Given the description of an element on the screen output the (x, y) to click on. 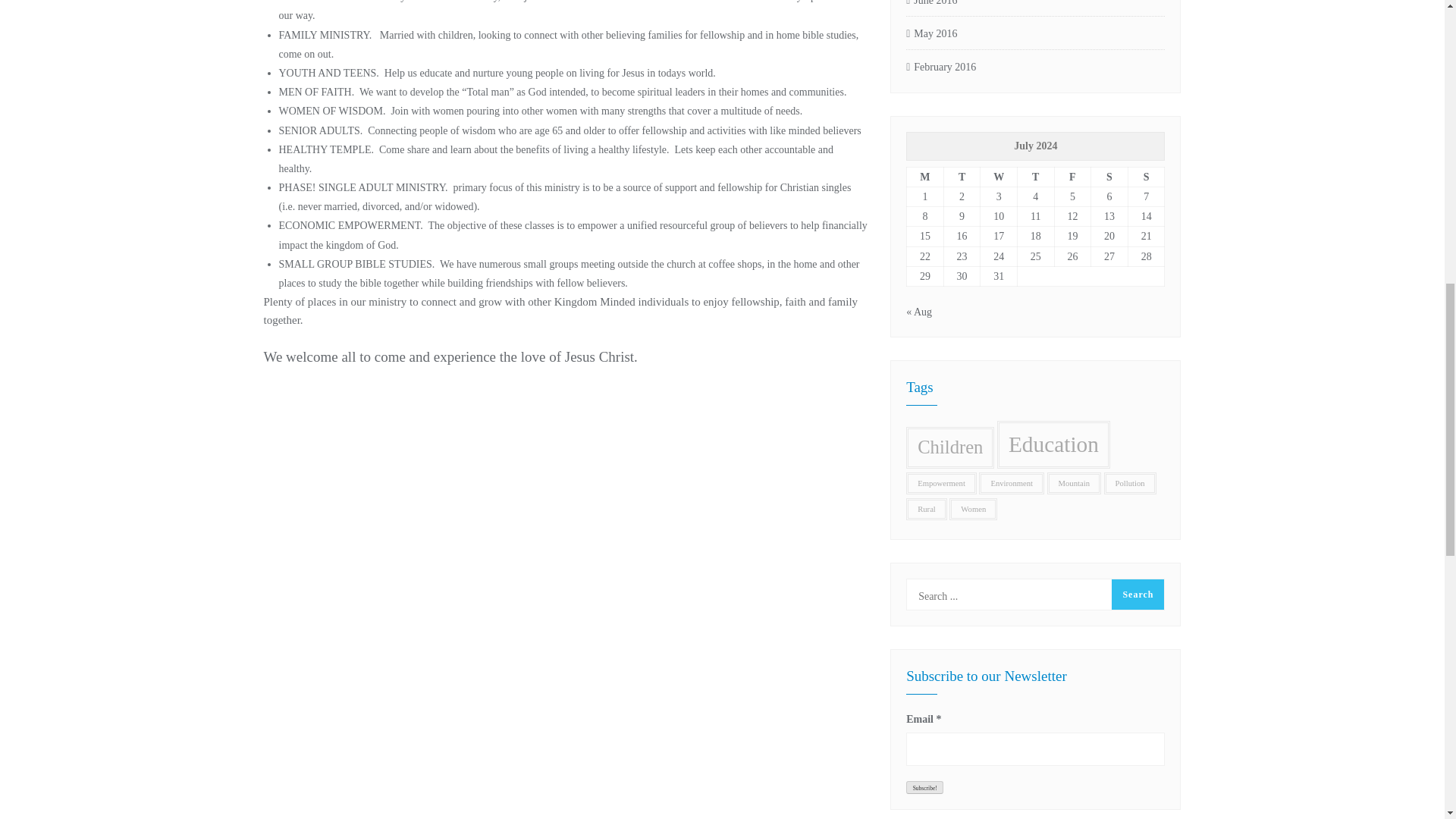
Email (1034, 748)
Monday (925, 176)
Search (1137, 594)
Wednesday (998, 176)
Tuesday (961, 176)
Sunday (1145, 176)
Subscribe! (924, 787)
Saturday (1109, 176)
Friday (1072, 176)
Search (1137, 594)
Thursday (1035, 176)
